Given the description of an element on the screen output the (x, y) to click on. 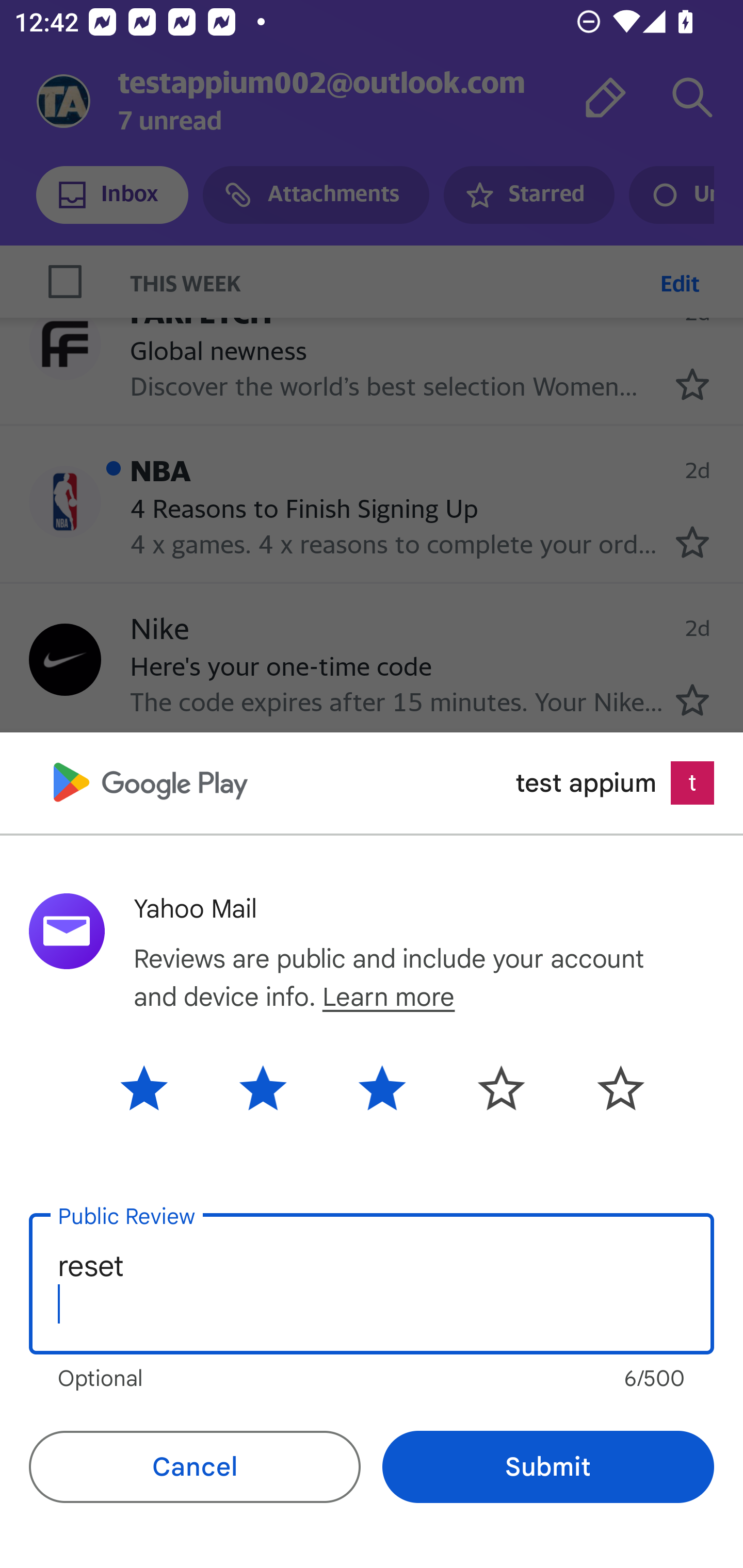
First star selected (159, 1087)
Second star selected (262, 1087)
Third star selected (381, 1087)
Fourth star unselected (500, 1087)
Fifth star unselected (604, 1087)
reset
 (371, 1283)
Cancel (194, 1466)
Submit (548, 1466)
